Given the description of an element on the screen output the (x, y) to click on. 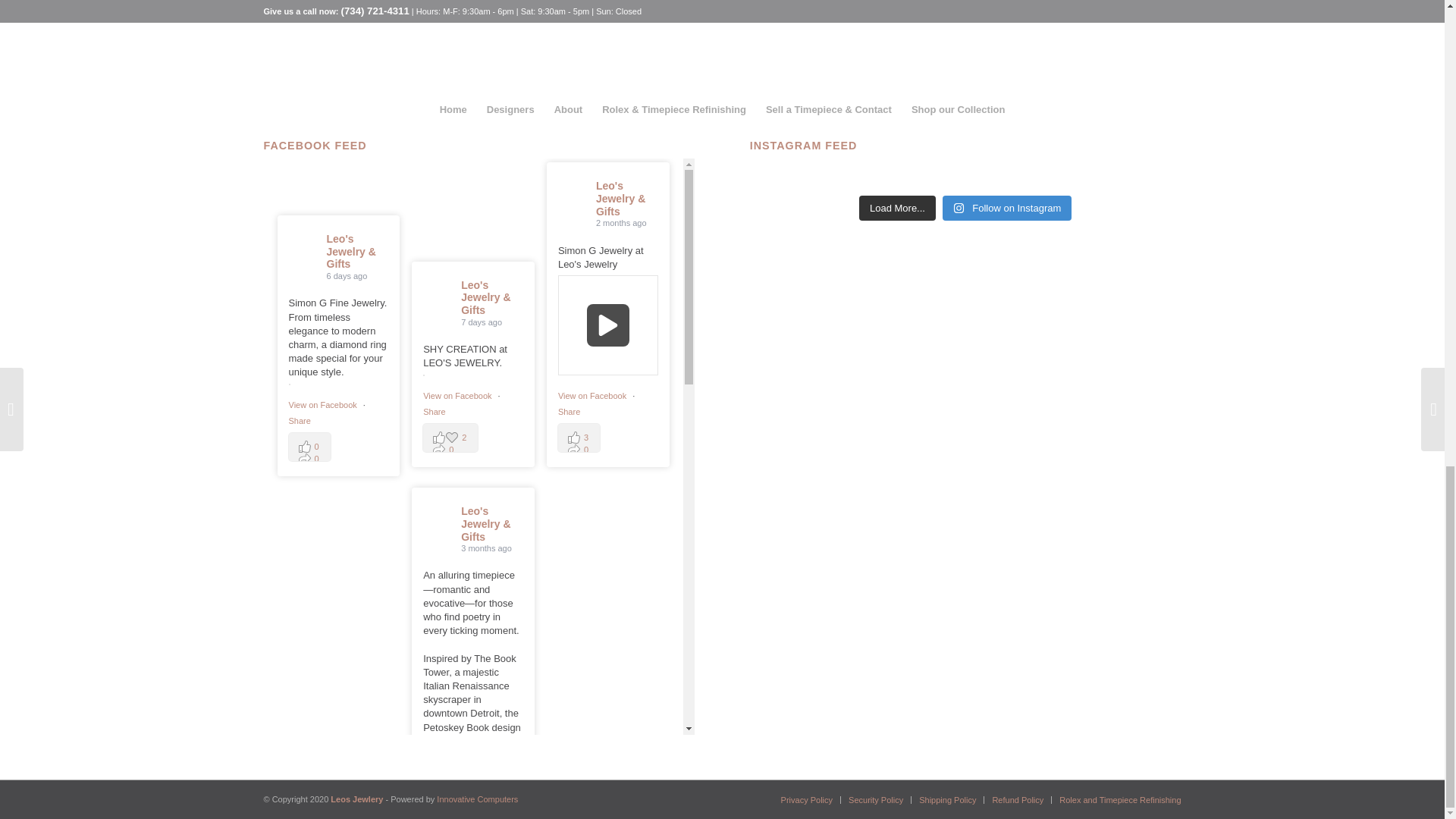
View on Facebook (323, 404)
Share (434, 411)
Share (568, 411)
View on Facebook (458, 395)
Share (299, 420)
View on Facebook (592, 395)
